Given the description of an element on the screen output the (x, y) to click on. 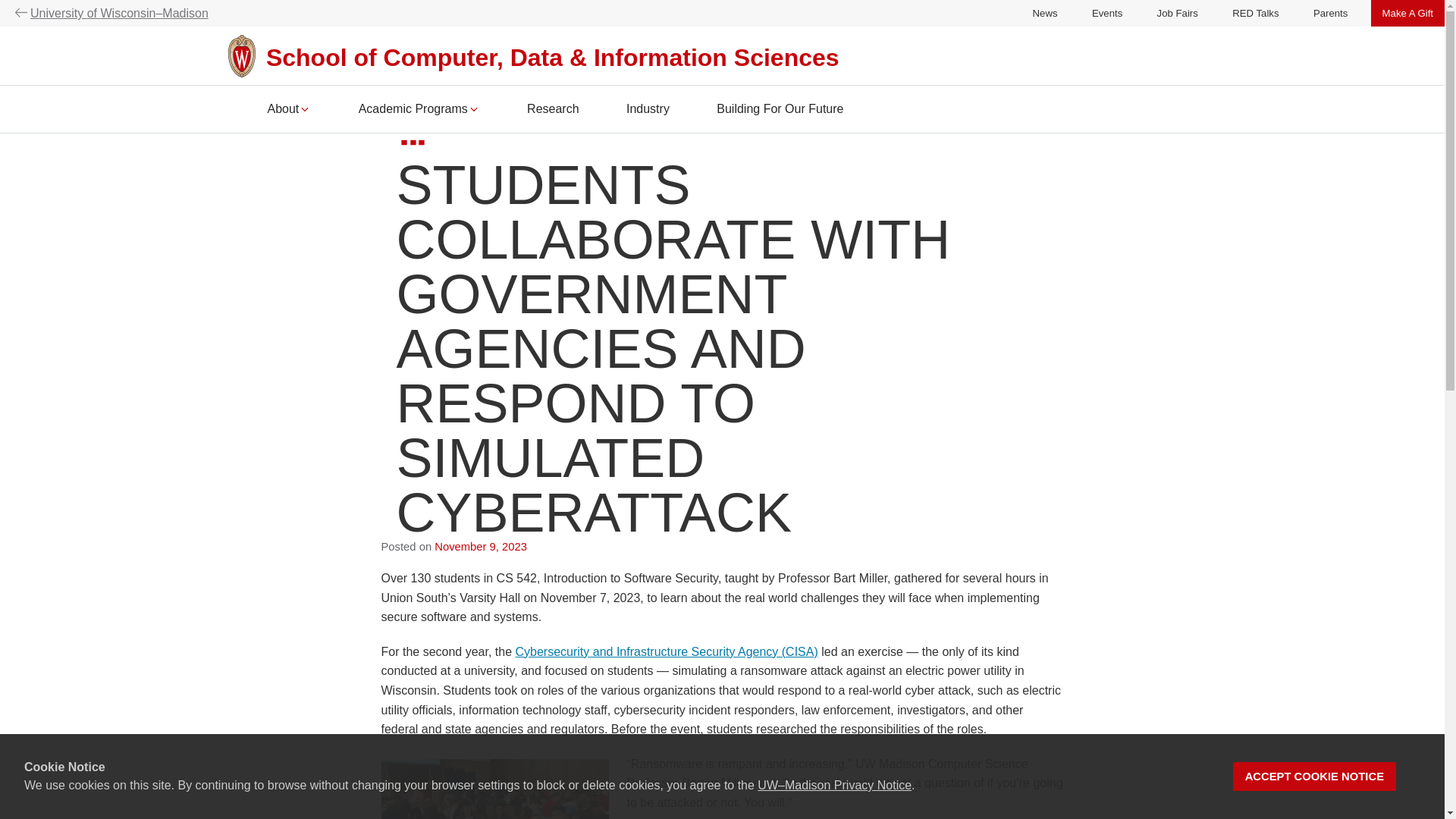
Make A Gift (1406, 13)
Industry (647, 110)
News (1045, 13)
Job Fairs (1177, 13)
Skip to main content (3, 136)
About Expand (288, 110)
November 9, 2023 (480, 546)
Parents (1330, 13)
Academic Programs Expand (419, 110)
Expand (473, 109)
